Given the description of an element on the screen output the (x, y) to click on. 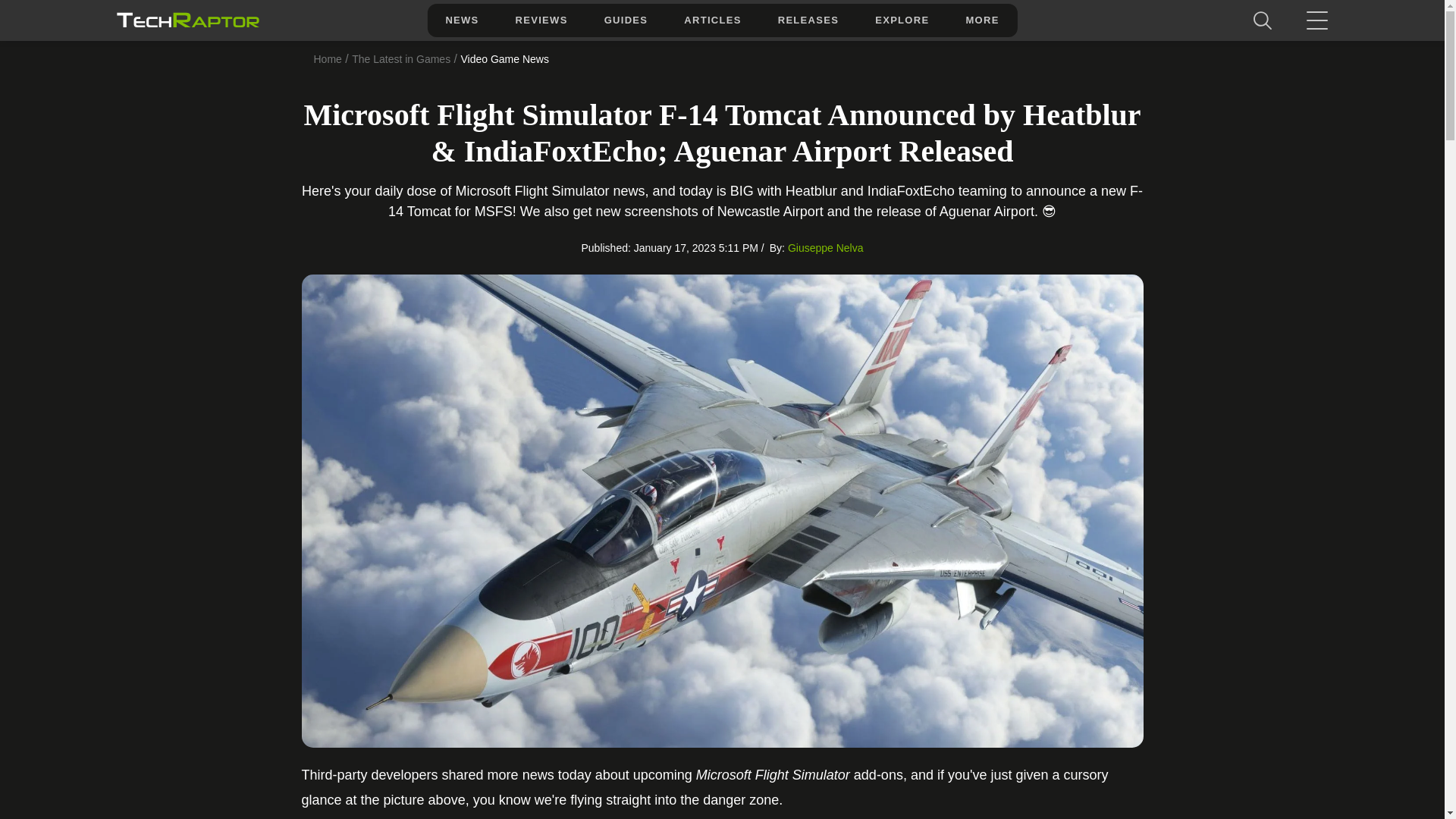
ARTICLES (711, 20)
TechRaptor Home (187, 20)
NEWS (461, 20)
RELEASES (807, 20)
GUIDES (626, 20)
REVIEWS (541, 20)
